Given the description of an element on the screen output the (x, y) to click on. 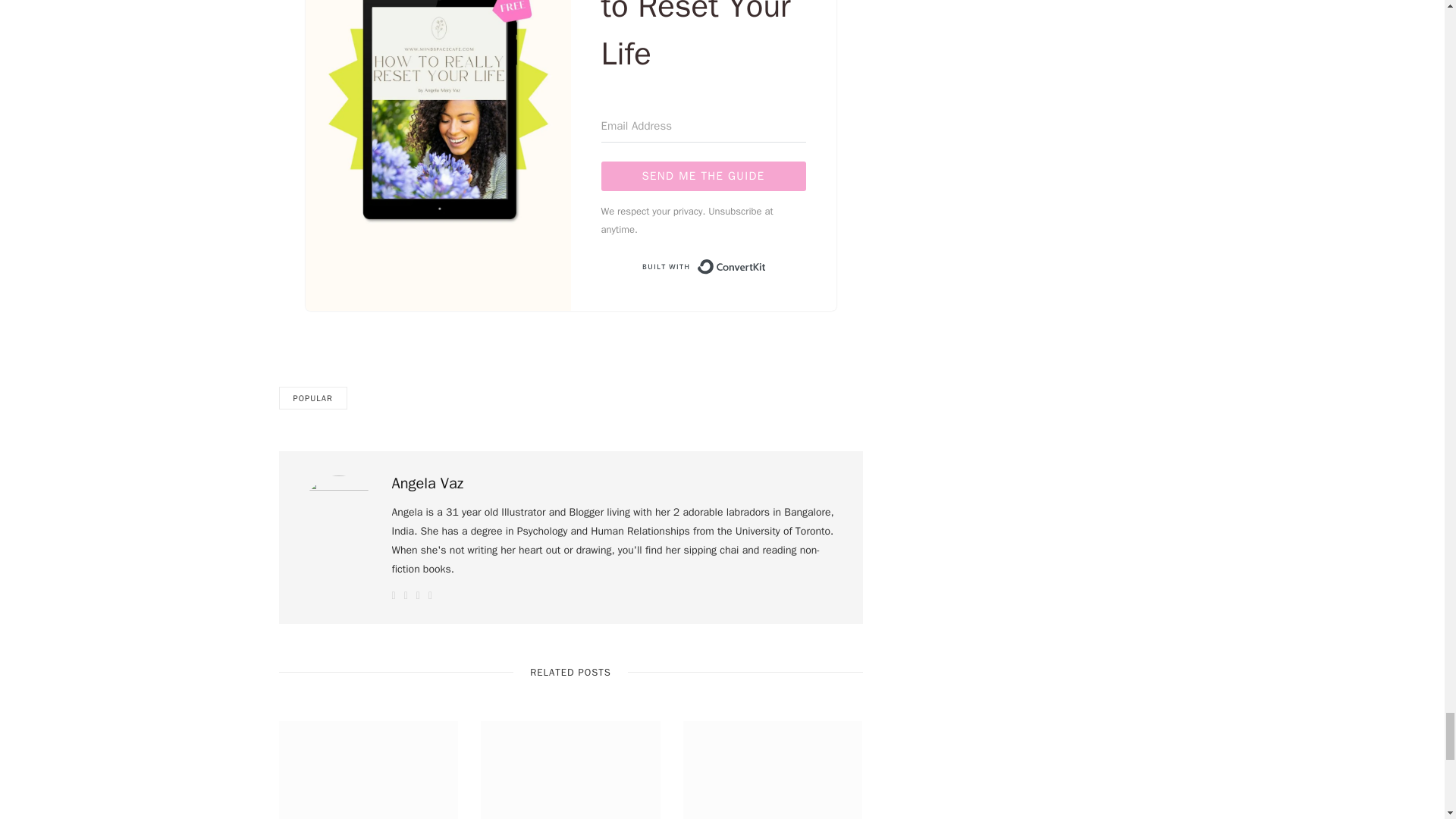
Posts by Angela Vaz (427, 483)
11 Easy Hacks to Glow Up Over the Summer (570, 770)
How to Live a Studio-Ghibli Life in 2024 (368, 770)
